Given the description of an element on the screen output the (x, y) to click on. 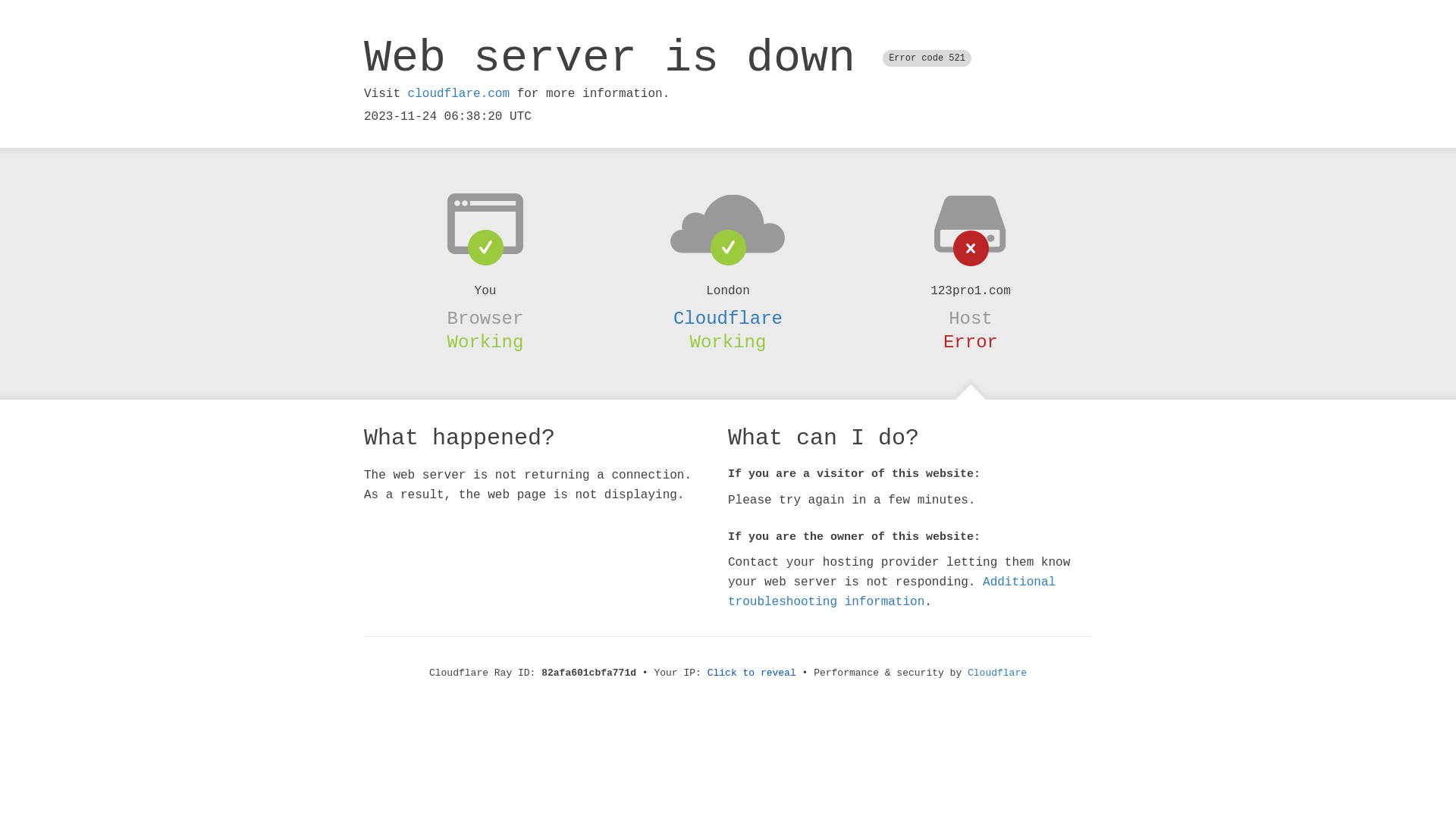
Click to reveal Element type: text (751, 672)
Cloudflare Element type: text (996, 672)
Additional troubleshooting information Element type: text (891, 591)
Cloudflare Element type: text (727, 318)
cloudflare.com Element type: text (458, 93)
